Given the description of an element on the screen output the (x, y) to click on. 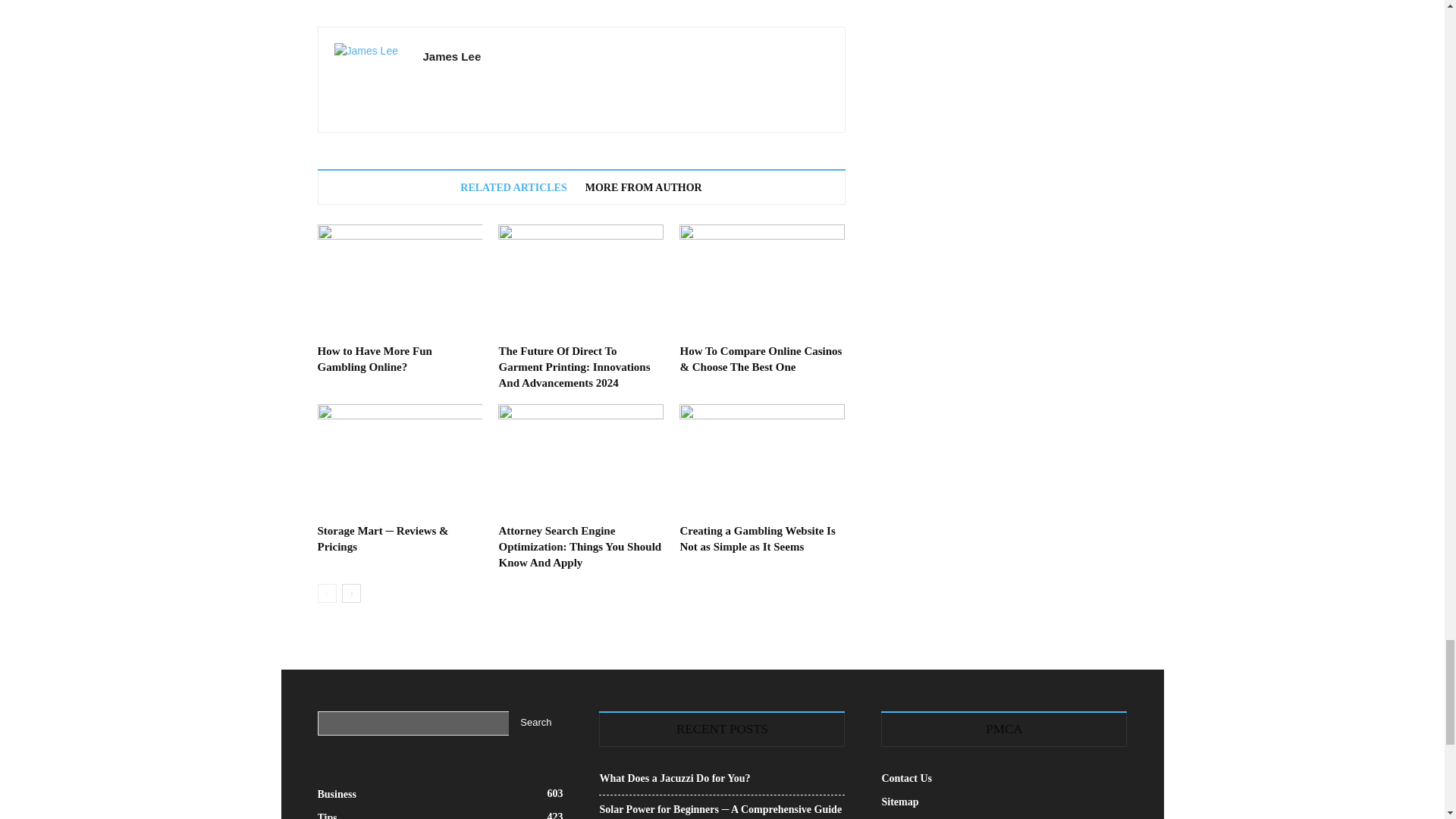
How to Have More Fun Gambling Online? (373, 358)
Search (535, 723)
How to Have More Fun Gambling Online? (399, 281)
